Given the description of an element on the screen output the (x, y) to click on. 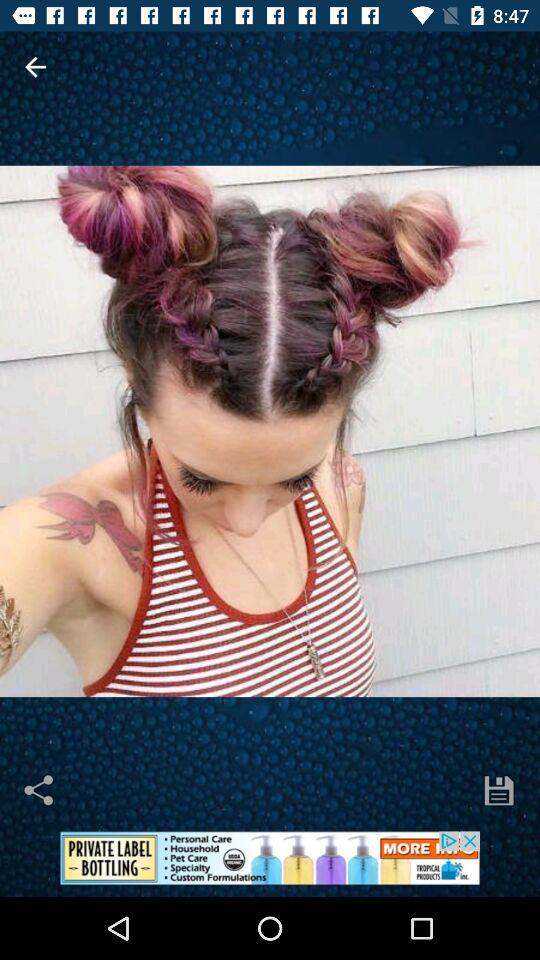
select the image (270, 431)
